Given the description of an element on the screen output the (x, y) to click on. 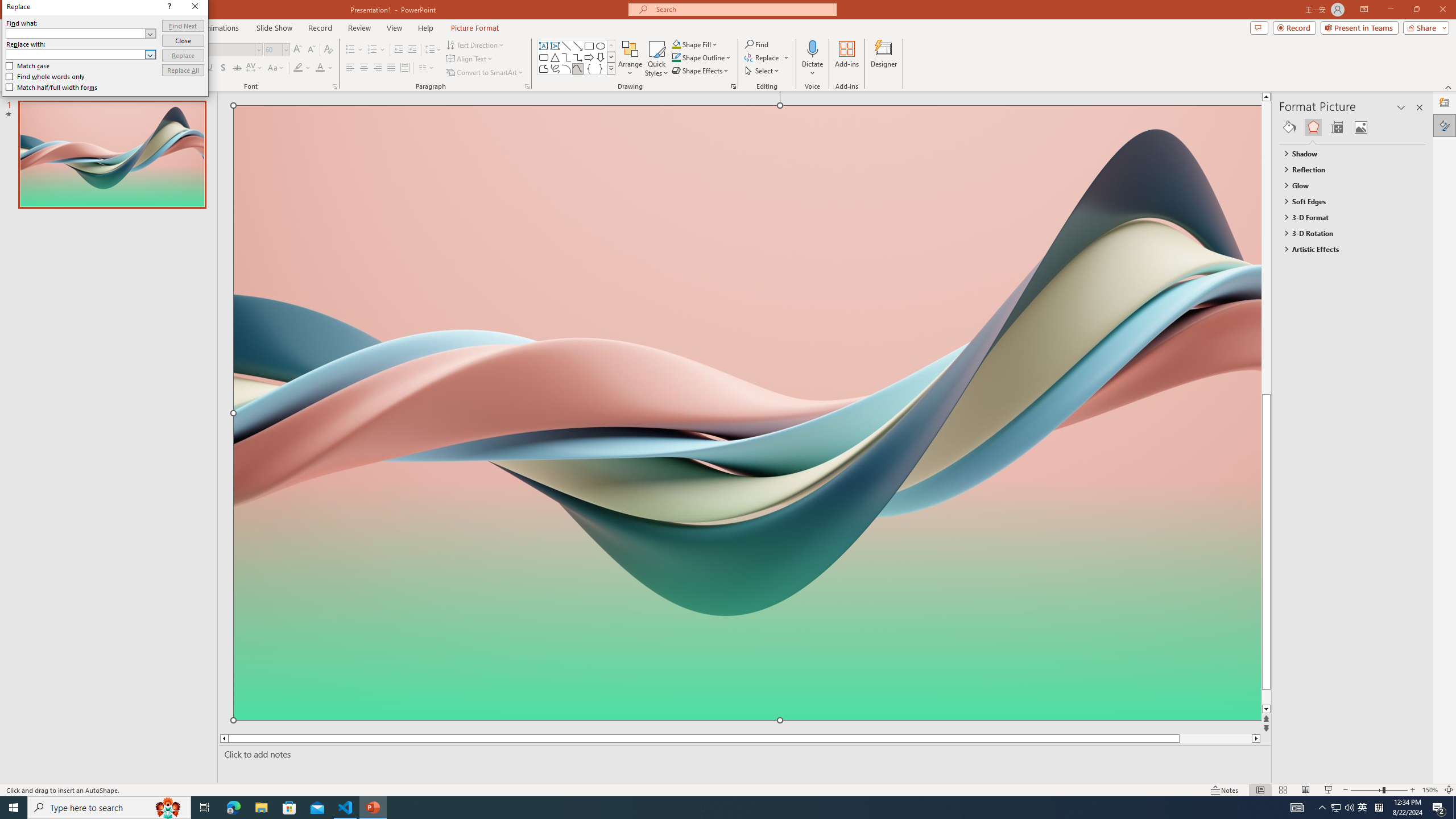
Line (566, 45)
File Explorer (261, 807)
Notification Chevron (1322, 807)
Tray Input Indicator - Chinese (Simplified, China) (1378, 807)
Replace with (80, 54)
Page down (1287, 696)
Connector: Elbow Arrow (577, 57)
Shape Outline (701, 56)
Zoom 150% (1430, 790)
